Given the description of an element on the screen output the (x, y) to click on. 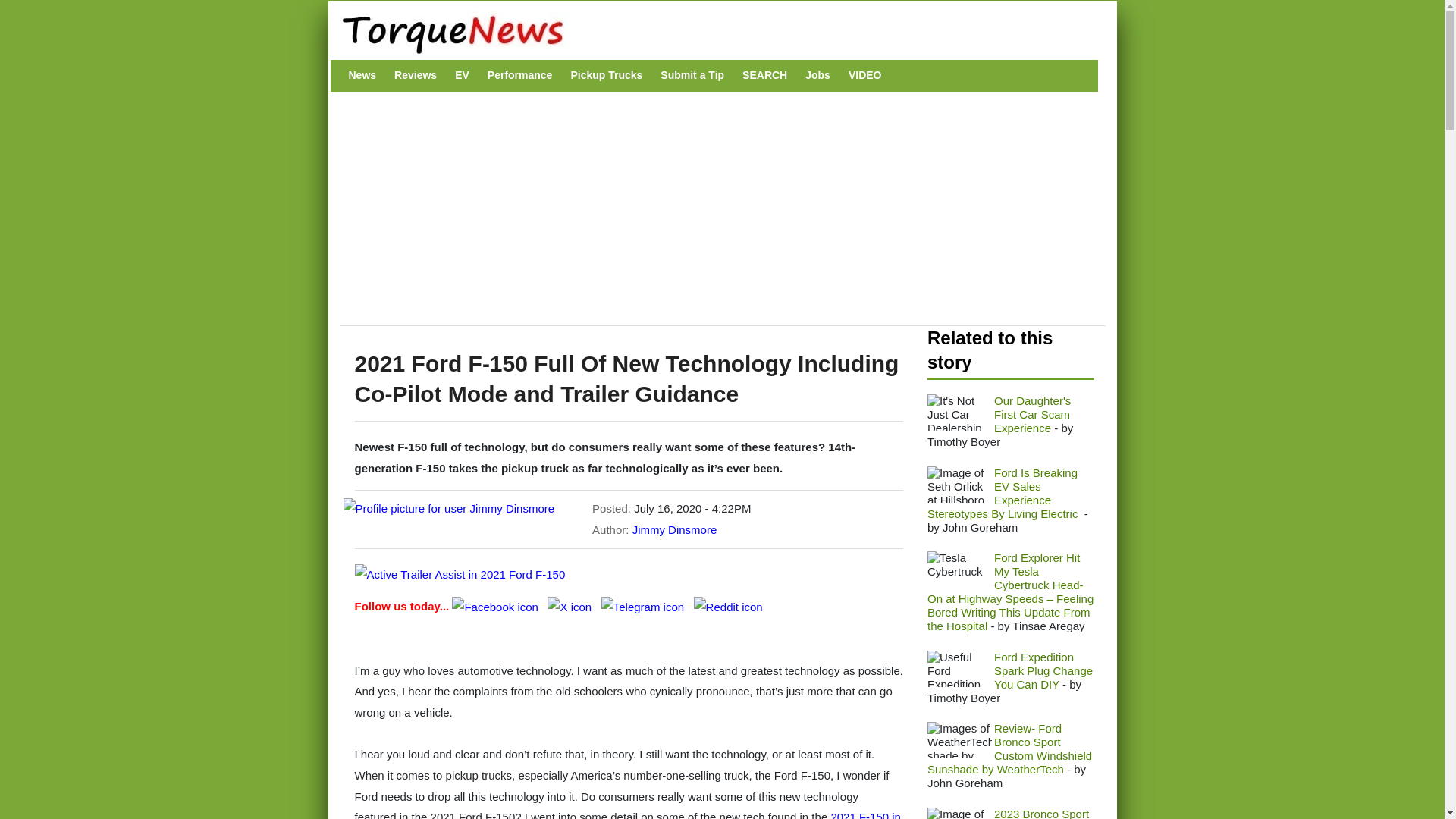
Submit a Tip (691, 75)
Automotive journalism jobs and careers are TorqueNews.com. (817, 75)
Learn DIY Repairs on Your Ford Truck (959, 668)
Car Loan Financing Scam Revealed (959, 411)
Reviews (415, 75)
Active Trailer Assist in 2021 Ford F-150 (460, 574)
Join us on Reddit! (728, 605)
SEARCH (764, 75)
Jimmy Dinsmore (674, 529)
News (362, 75)
2021 F-150 in this article (628, 814)
News (362, 75)
Image of Seth Orlick at Hillsboro Ford (959, 484)
Join us on Telegram! (644, 605)
EV (462, 75)
